Given the description of an element on the screen output the (x, y) to click on. 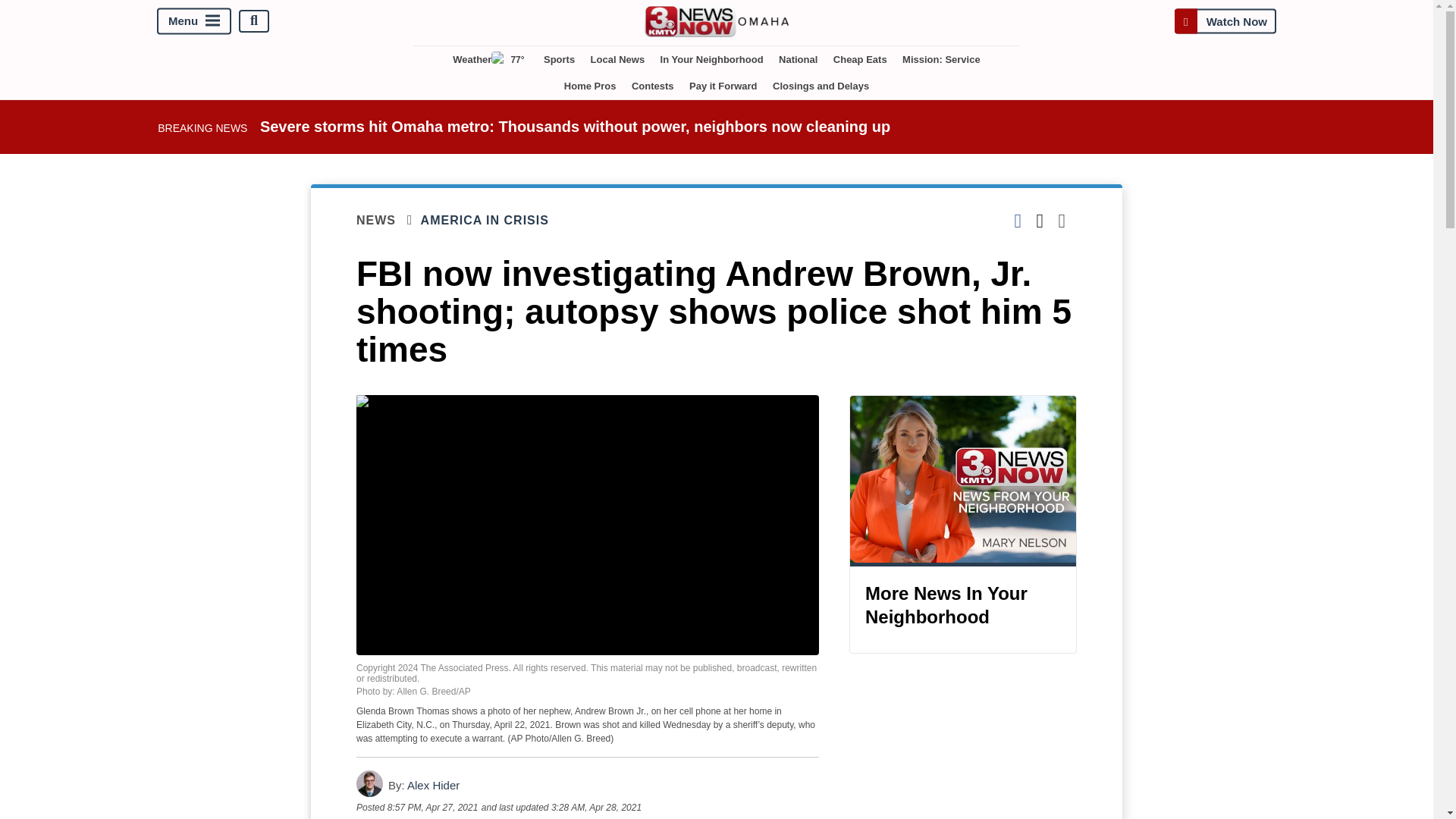
Watch Now (1224, 20)
Menu (194, 20)
